Given the description of an element on the screen output the (x, y) to click on. 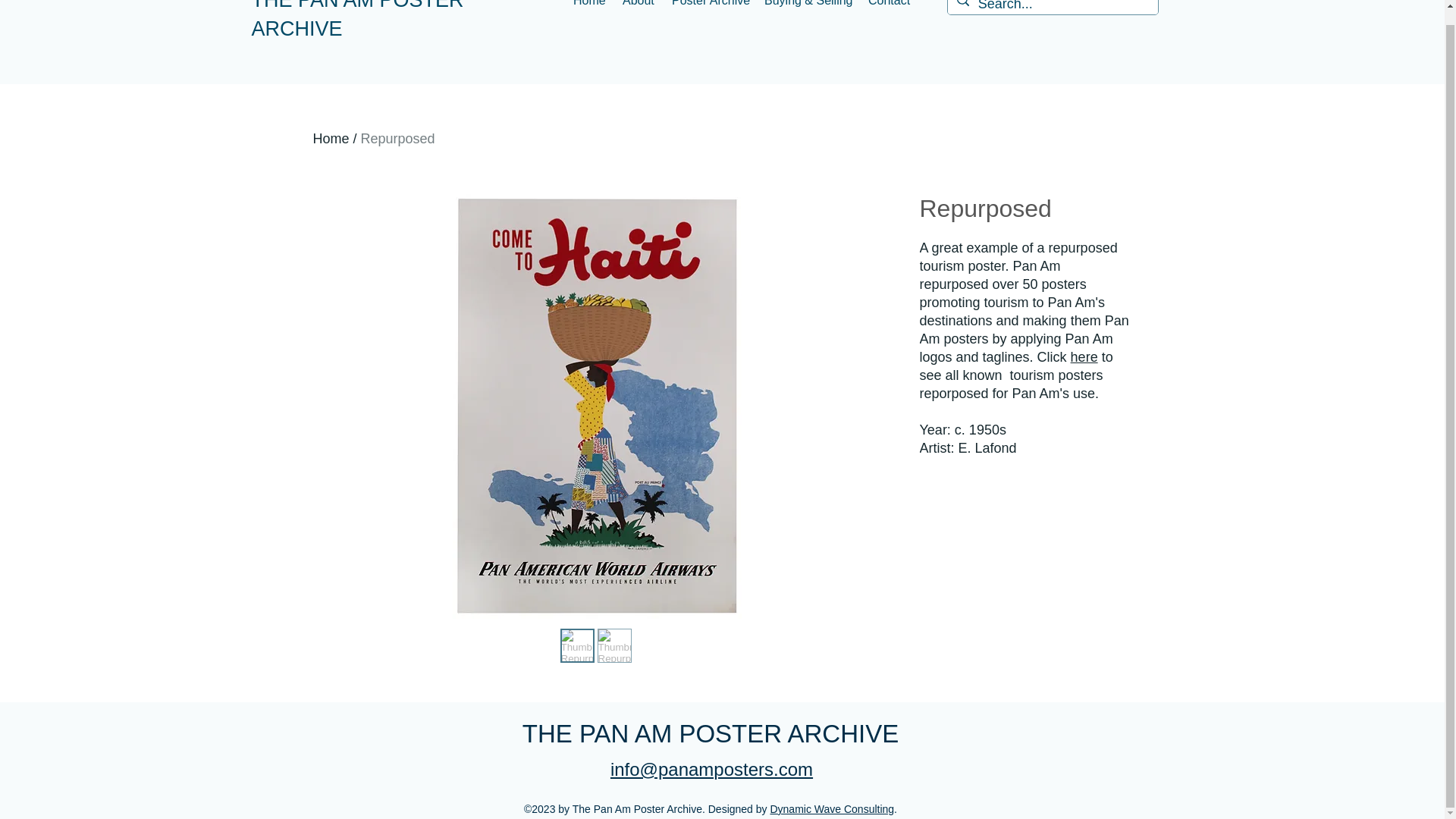
here (1083, 356)
Home (590, 7)
Contact (889, 7)
Home (331, 138)
About (638, 7)
Repurposed (398, 138)
Dynamic Wave Consulting (831, 808)
Poster Archive (710, 7)
